Given the description of an element on the screen output the (x, y) to click on. 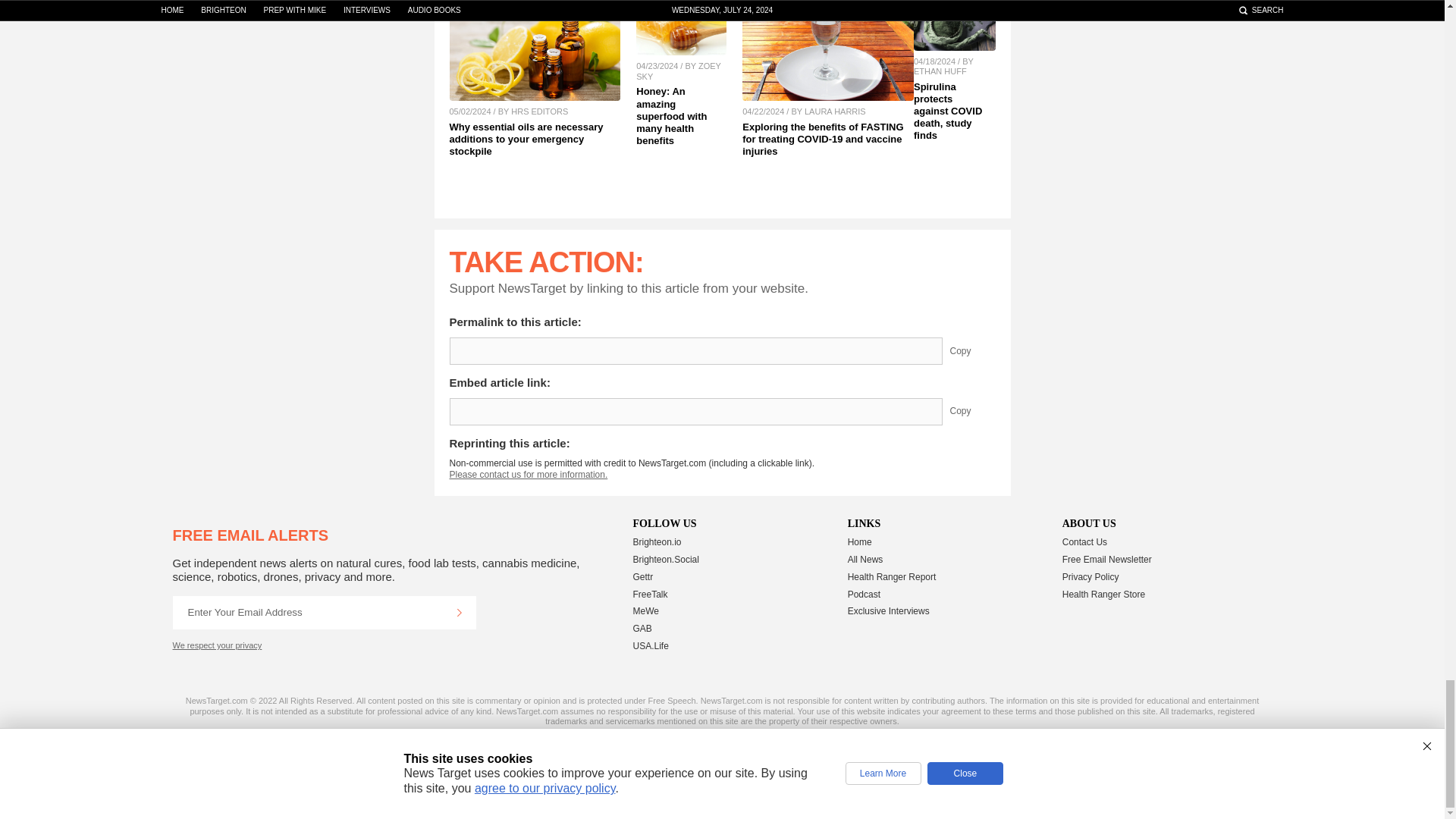
Copy Embed Link (971, 411)
Copy Permalink (971, 350)
Continue (459, 612)
